Given the description of an element on the screen output the (x, y) to click on. 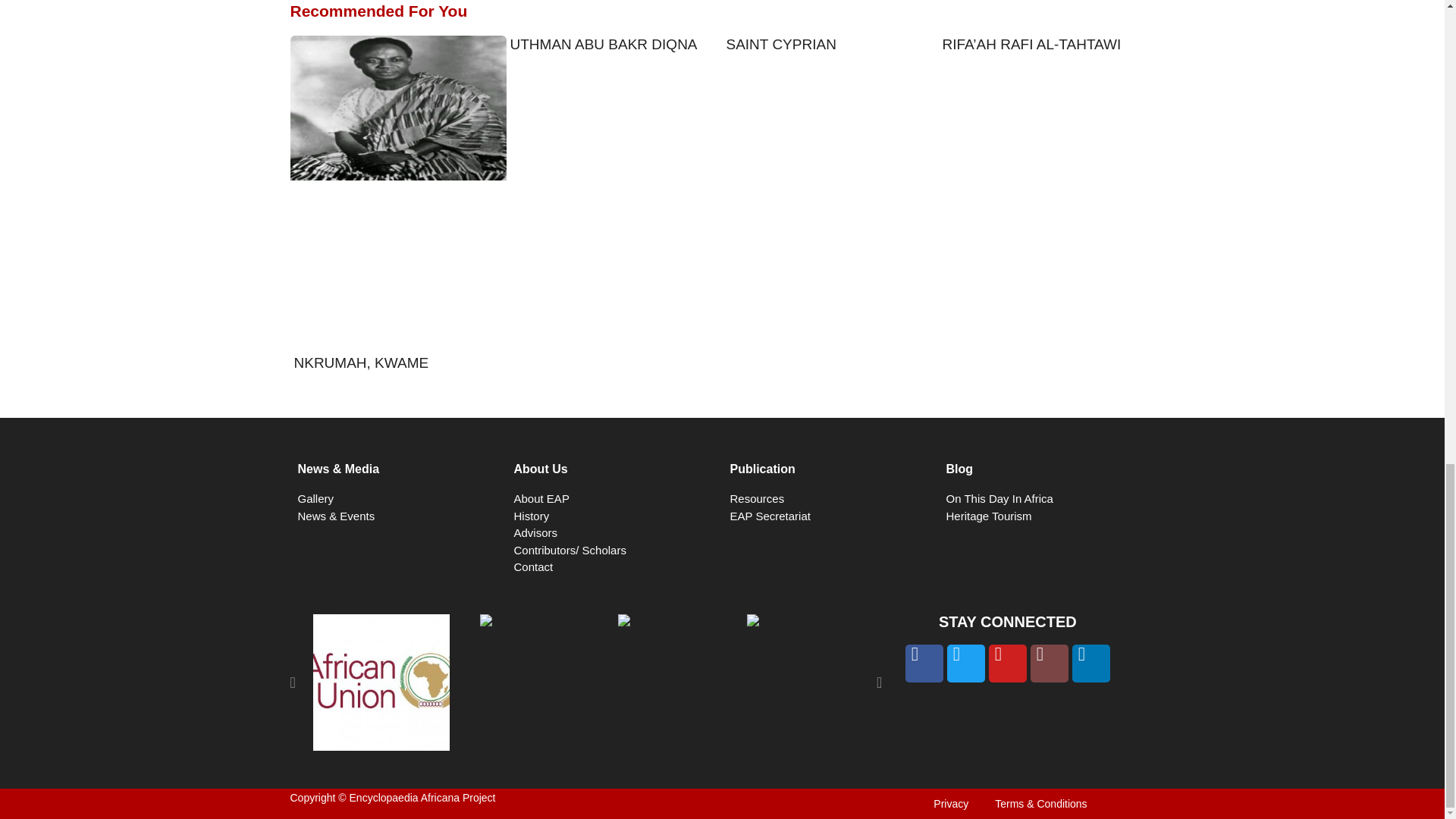
NKRUMAH, KWAME (361, 362)
UTHMAN ABU BAKR DIQNA (603, 44)
